Given the description of an element on the screen output the (x, y) to click on. 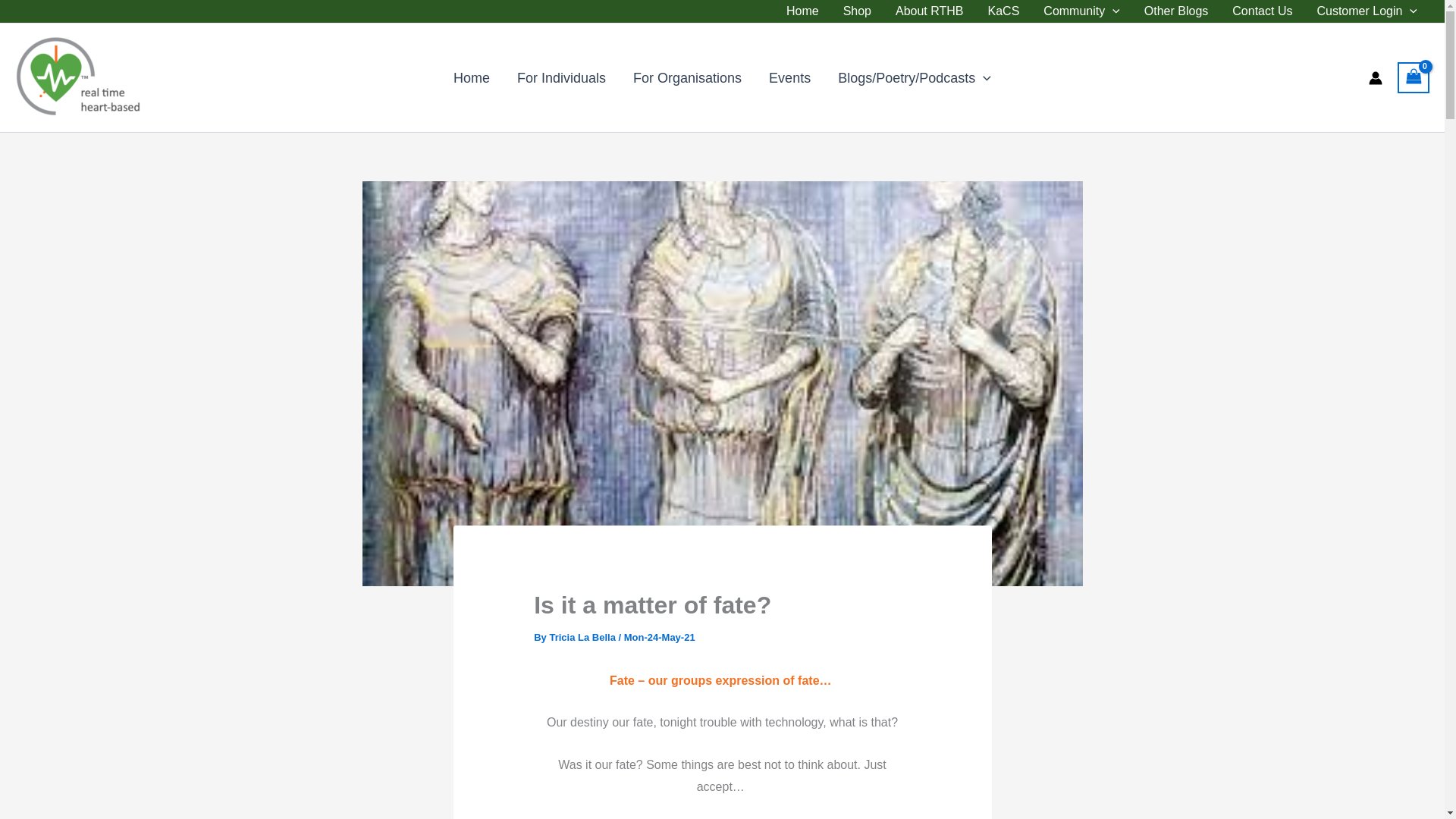
Community (1081, 11)
Events (789, 76)
View all posts by Tricia La Bella (582, 636)
Customer Login (1366, 11)
About RTHB (929, 11)
Home (802, 11)
For Individuals (561, 76)
Shop (857, 11)
Other Blogs (1176, 11)
KaCS (1003, 11)
